Given the description of an element on the screen output the (x, y) to click on. 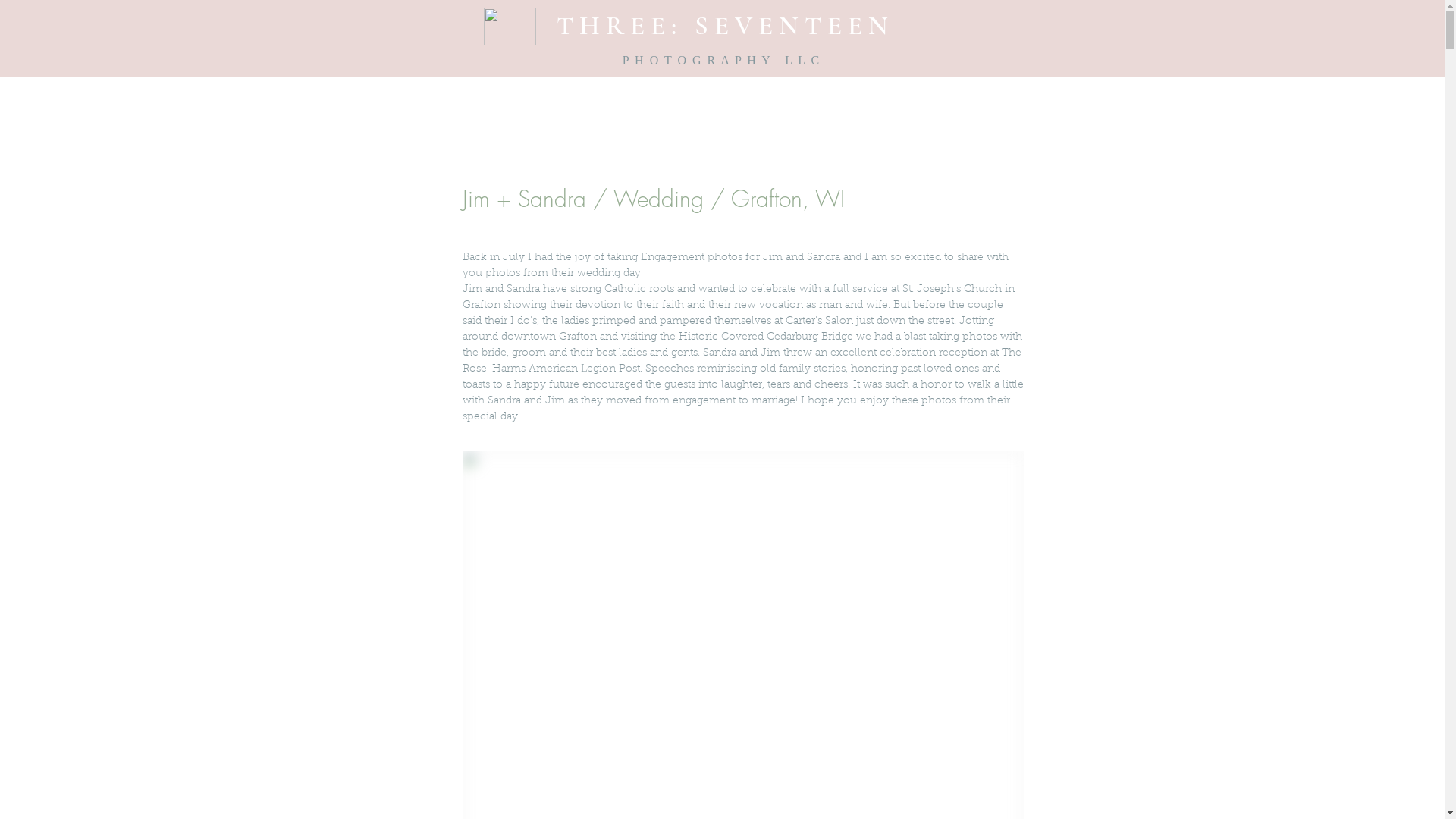
newTS.gif Element type: hover (509, 26)
T H R E E :   S E V E N T E E N Element type: text (722, 25)
